Given the description of an element on the screen output the (x, y) to click on. 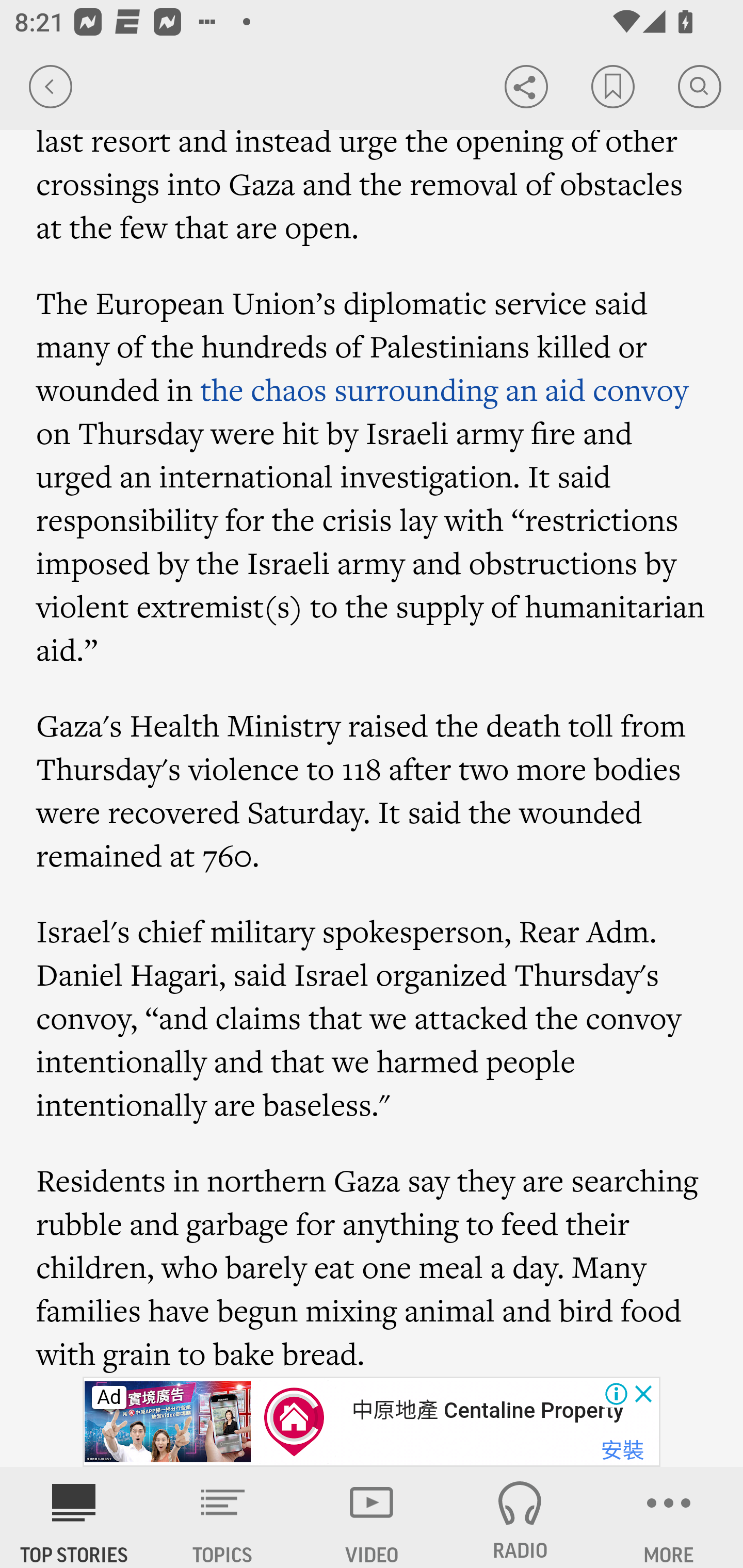
the chaos surrounding an aid convoy (443, 389)
中原地產 Centaline Property (486, 1410)
安裝 (621, 1450)
AP News TOP STORIES (74, 1517)
TOPICS (222, 1517)
VIDEO (371, 1517)
RADIO (519, 1517)
MORE (668, 1517)
